Given the description of an element on the screen output the (x, y) to click on. 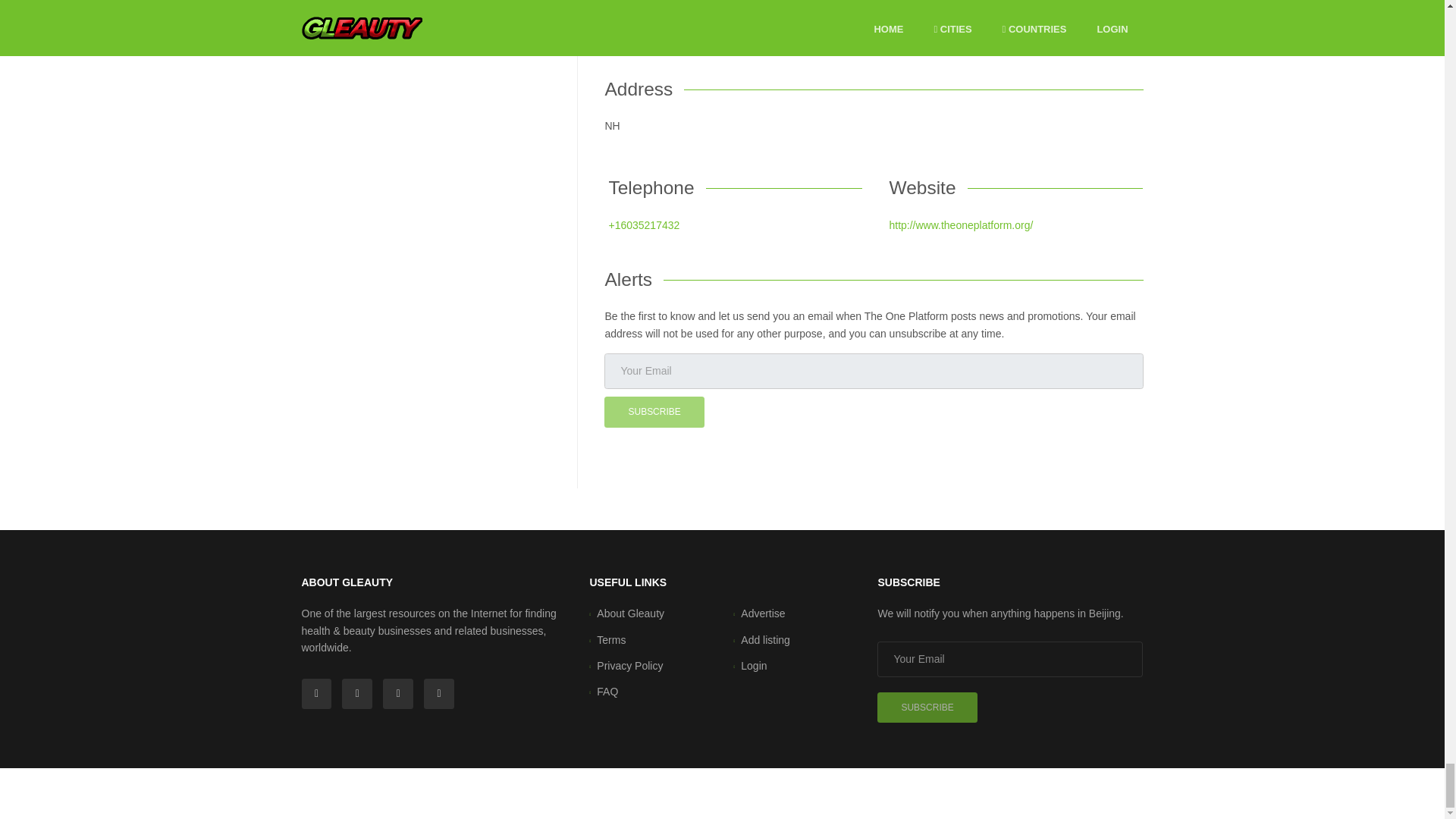
About Gleauty (629, 613)
Terms (611, 639)
SUBSCRIBE (653, 411)
